Given the description of an element on the screen output the (x, y) to click on. 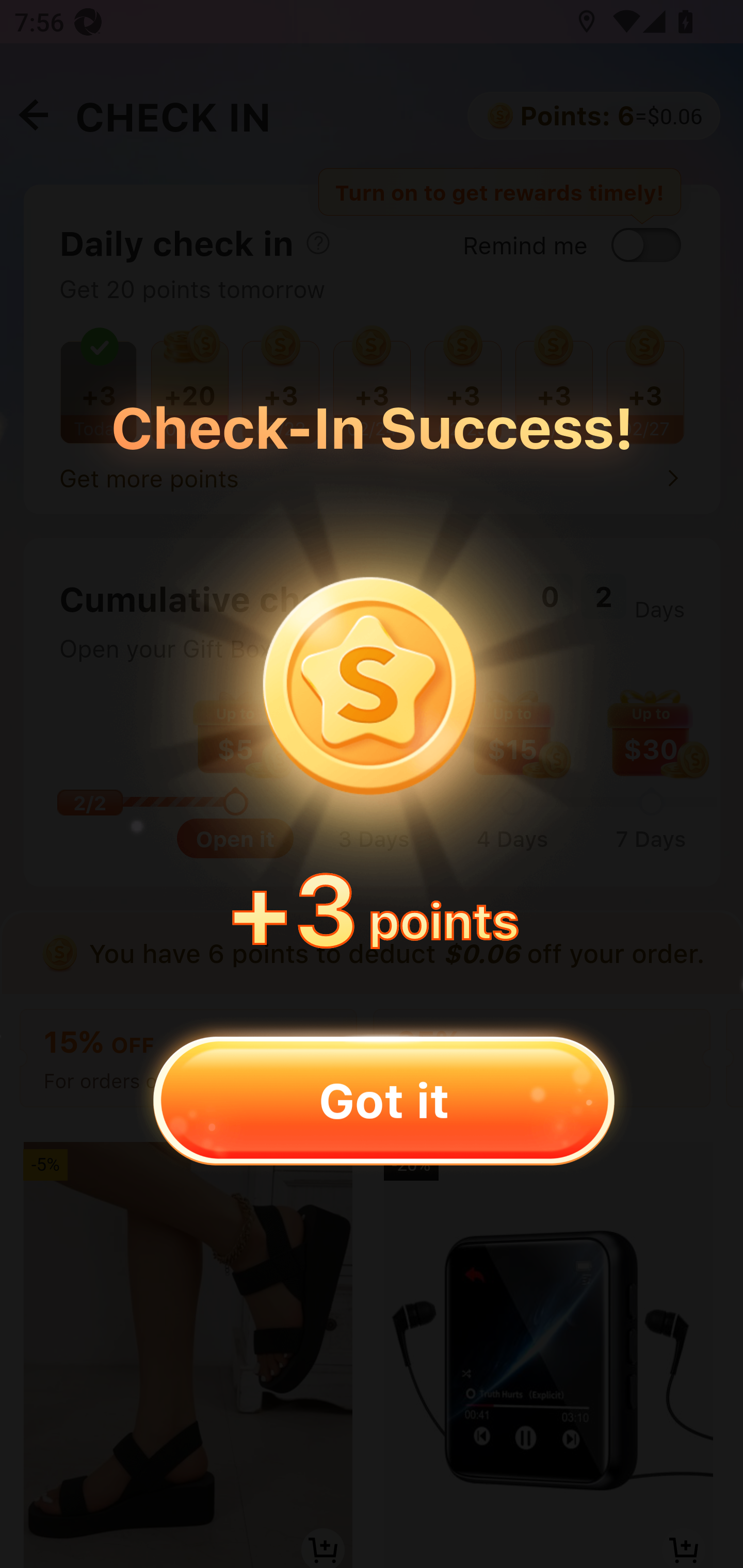
Got it (383, 1099)
